Given the description of an element on the screen output the (x, y) to click on. 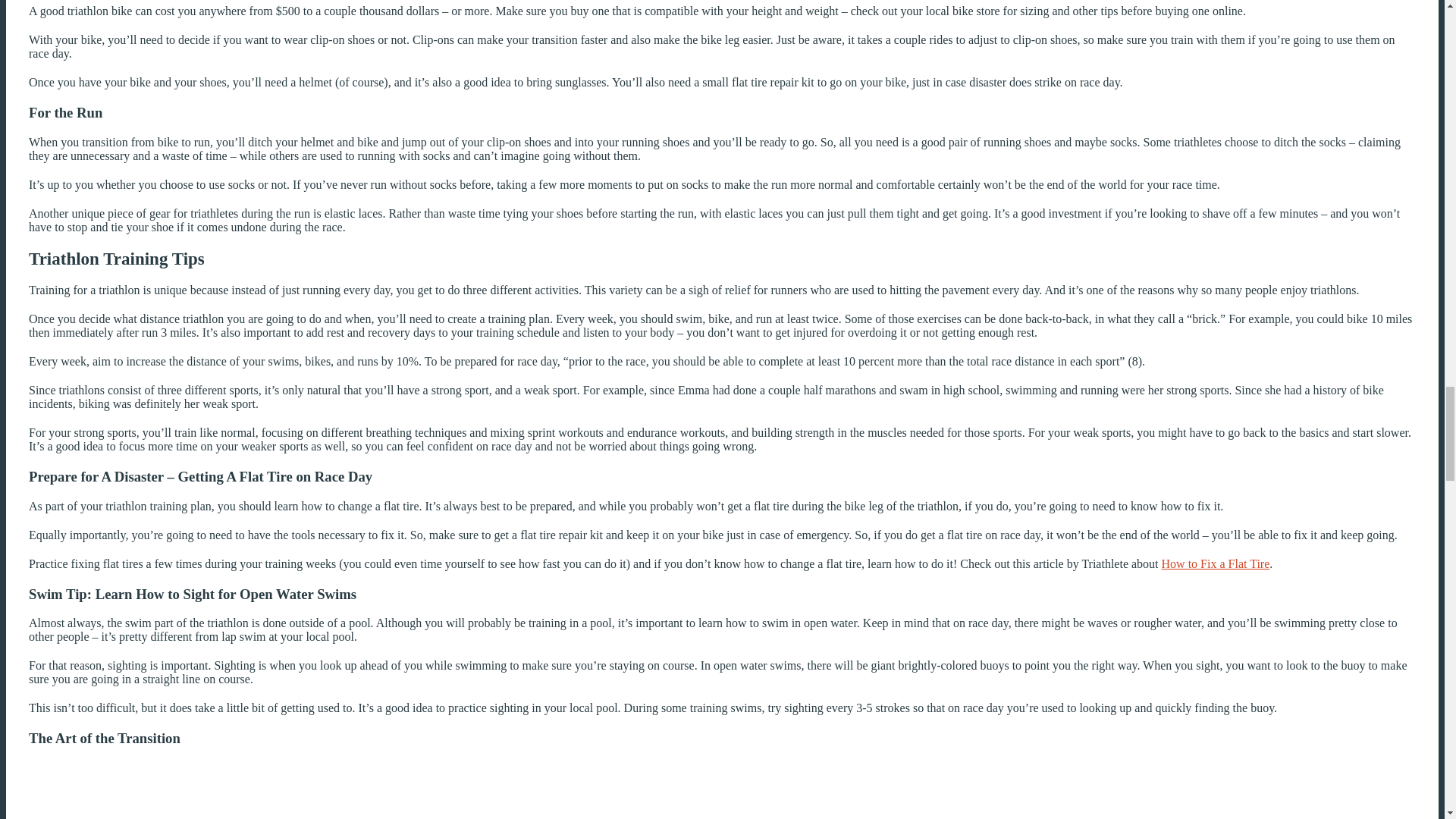
How to Fix a Flat Tire (1215, 563)
